Given the description of an element on the screen output the (x, y) to click on. 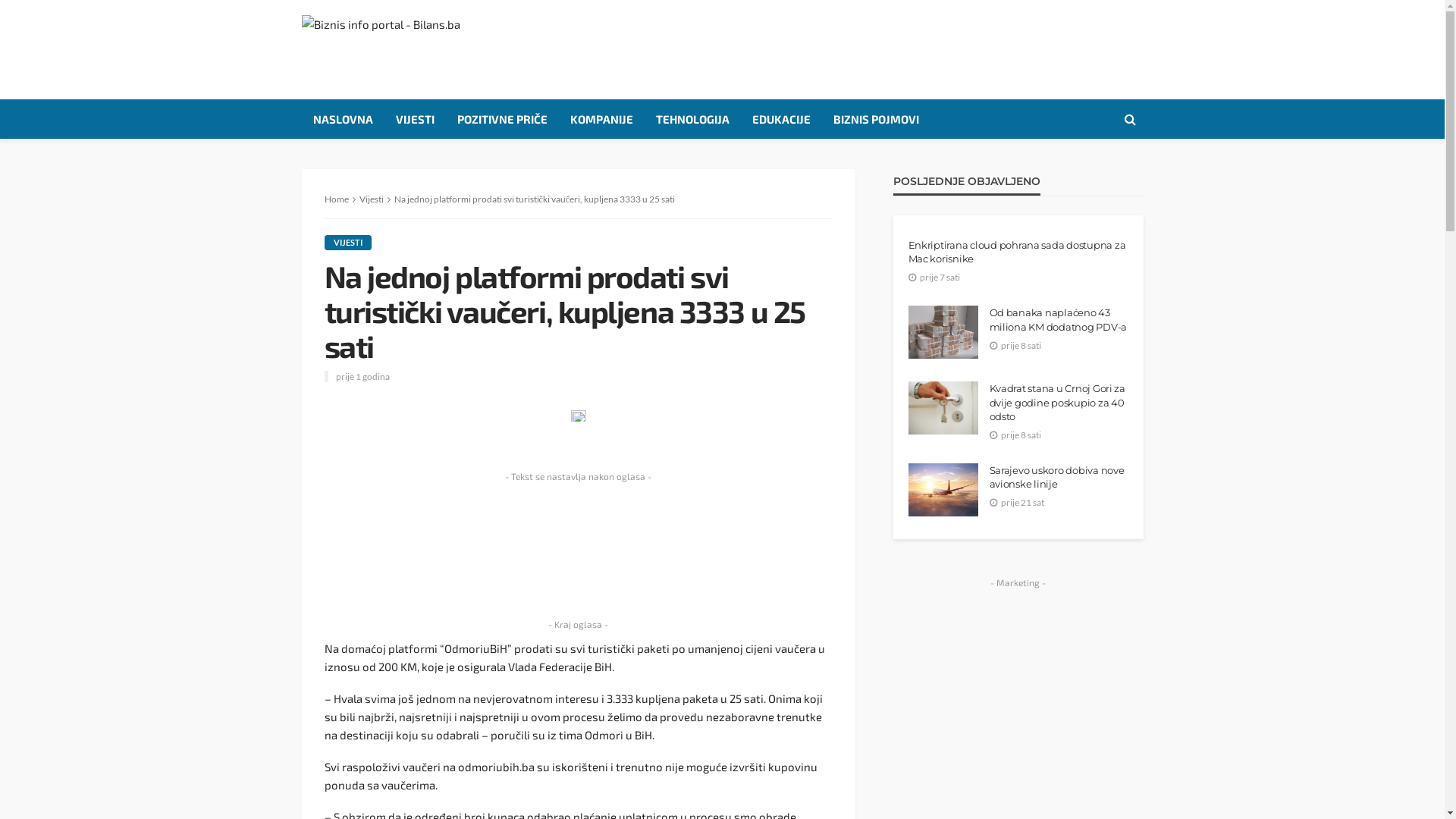
Sarajevo uskoro dobiva nove avionske linije Element type: text (1057, 476)
Advertisement Element type: hover (867, 49)
TEHNOLOGIJA Element type: text (692, 118)
Advertisement Element type: hover (578, 551)
Vijesti Element type: text (371, 198)
Search Element type: hover (1130, 118)
Advertisement Element type: hover (1017, 688)
BIZNIS POJMOVI Element type: text (876, 118)
VIJESTI Element type: text (414, 118)
Home Element type: text (336, 198)
Biznis info portal - Bilans.ba Element type: hover (380, 38)
Sarajevo uskoro dobiva nove avionske linije Element type: hover (943, 489)
KOMPANIJE Element type: text (600, 118)
VIJESTI Element type: text (347, 242)
NASLOVNA Element type: text (342, 118)
EDUKACIJE Element type: text (780, 118)
Enkriptirana cloud pohrana sada dostupna za Mac korisnike Element type: text (1018, 251)
